Given the description of an element on the screen output the (x, y) to click on. 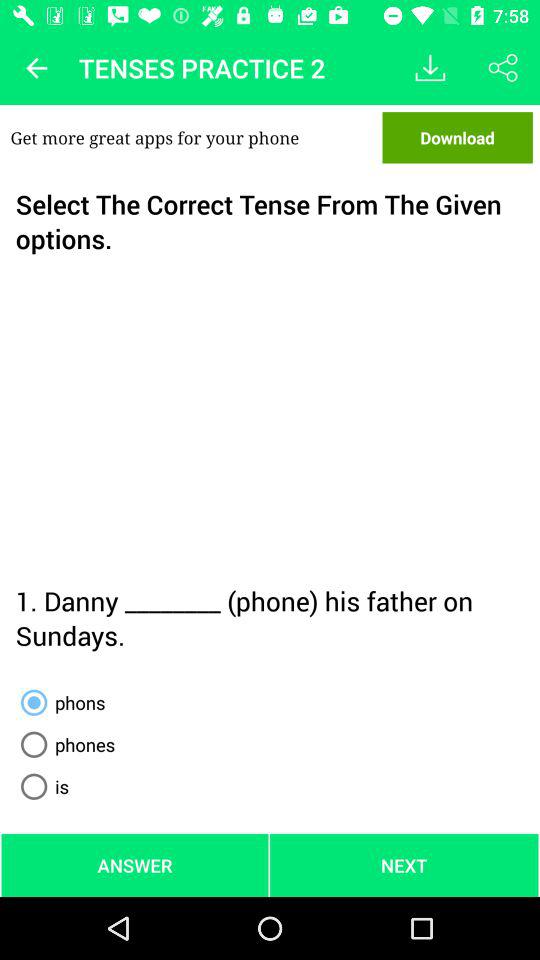
turn off the icon at the top left corner (36, 68)
